Given the description of an element on the screen output the (x, y) to click on. 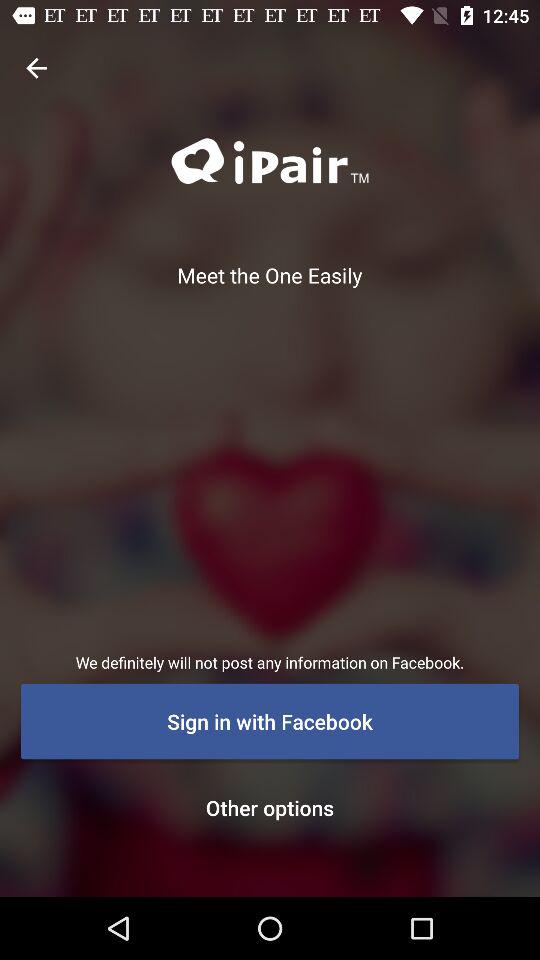
click the icon below the we definitely will item (270, 721)
